Given the description of an element on the screen output the (x, y) to click on. 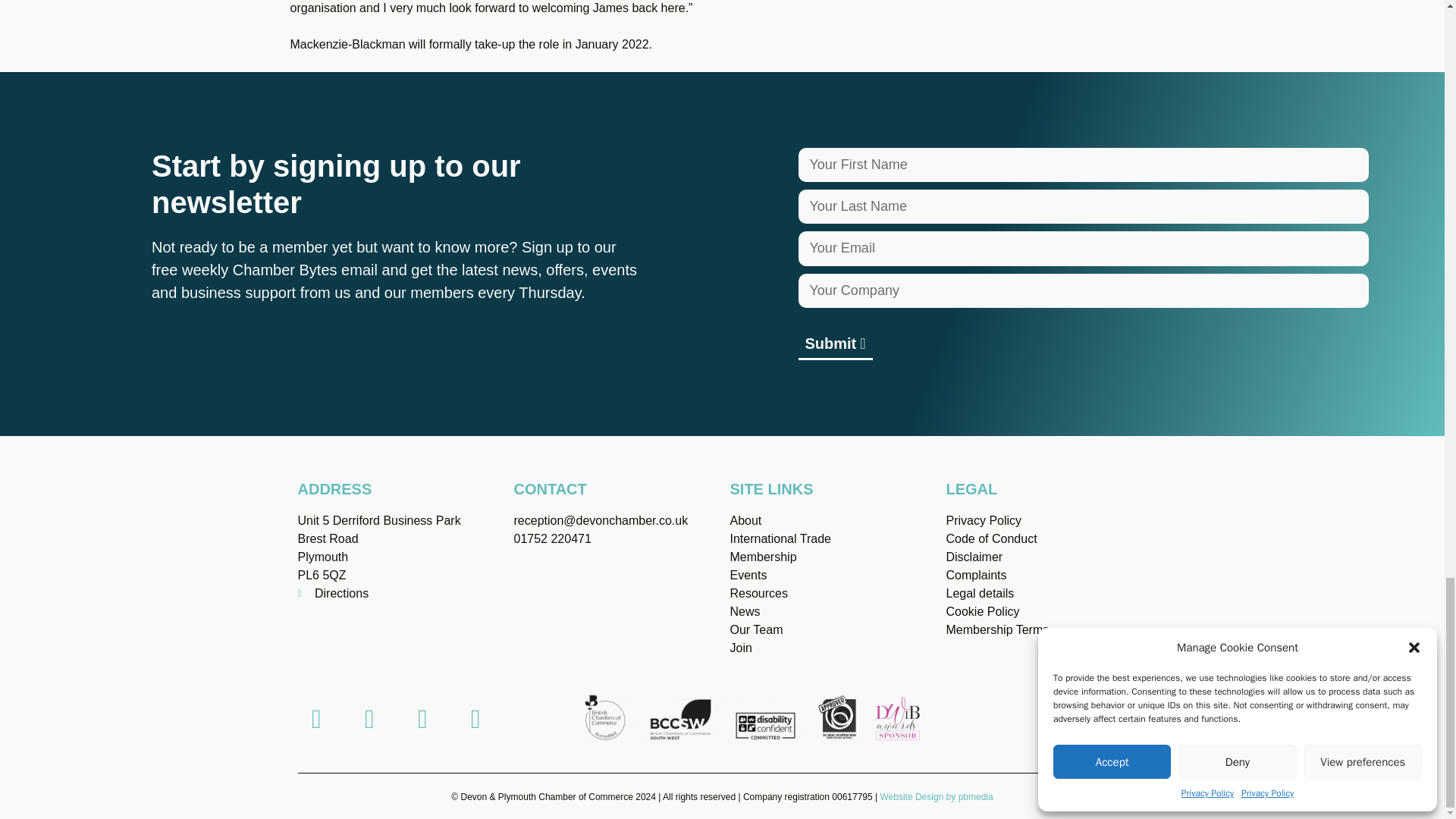
Logo (897, 717)
